Given the description of an element on the screen output the (x, y) to click on. 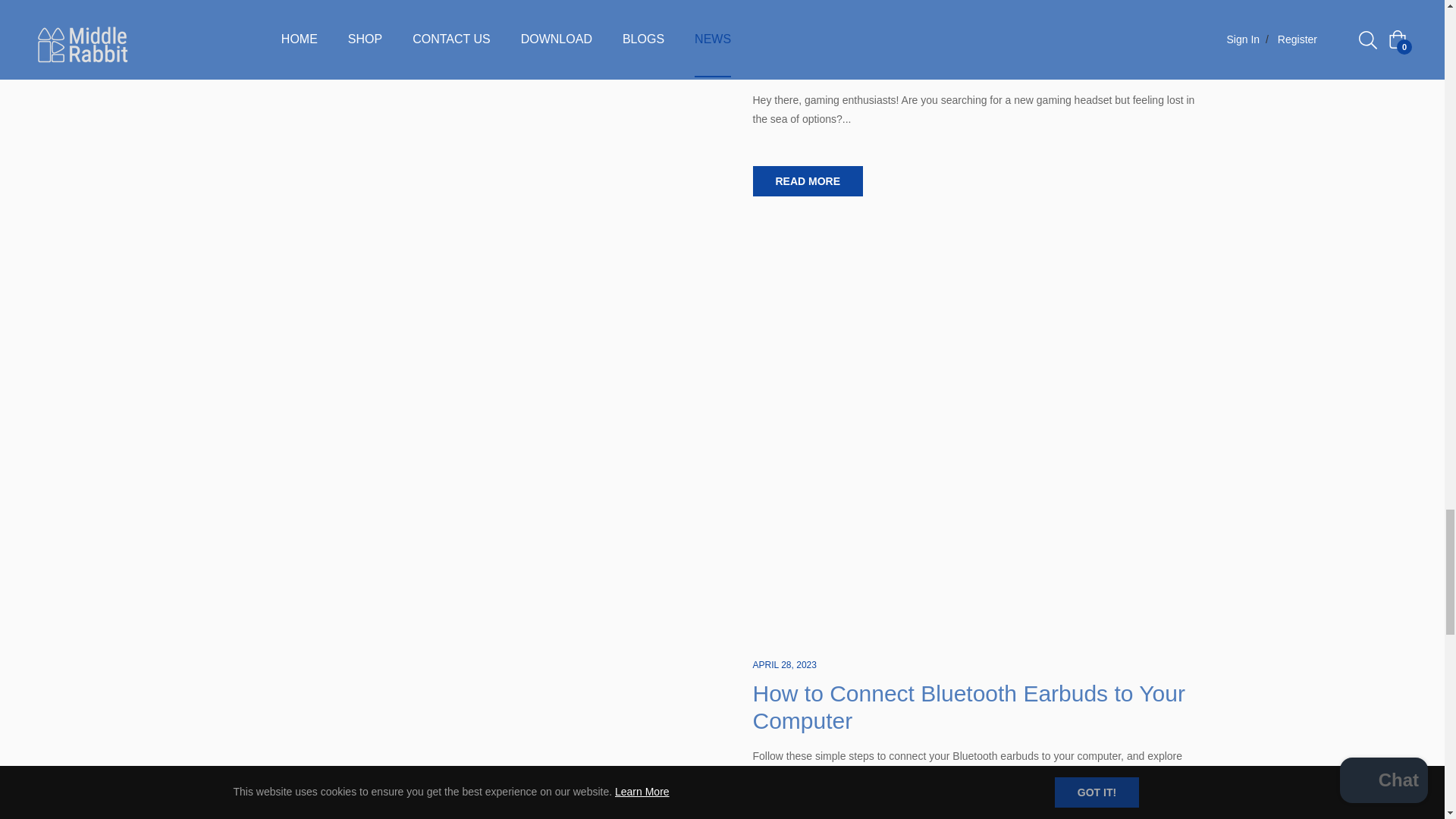
READ MORE (807, 181)
How to Connect Bluetooth Earbuds to Your Computer (968, 706)
